Given the description of an element on the screen output the (x, y) to click on. 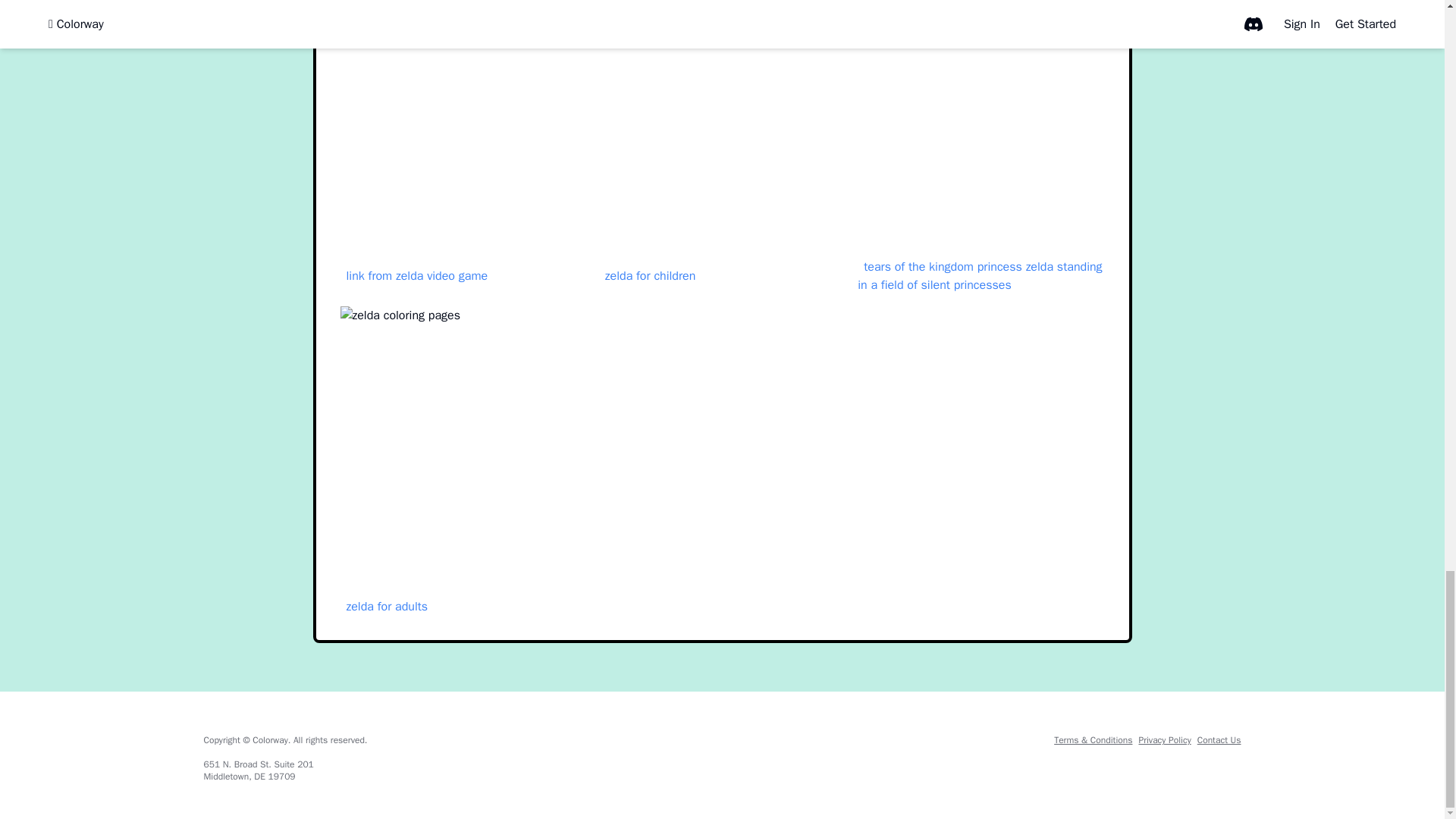
link from zelda video game (416, 275)
zelda for children (649, 275)
zelda for adults (386, 606)
Contact Us (1218, 739)
Privacy Policy (1164, 739)
